Given the description of an element on the screen output the (x, y) to click on. 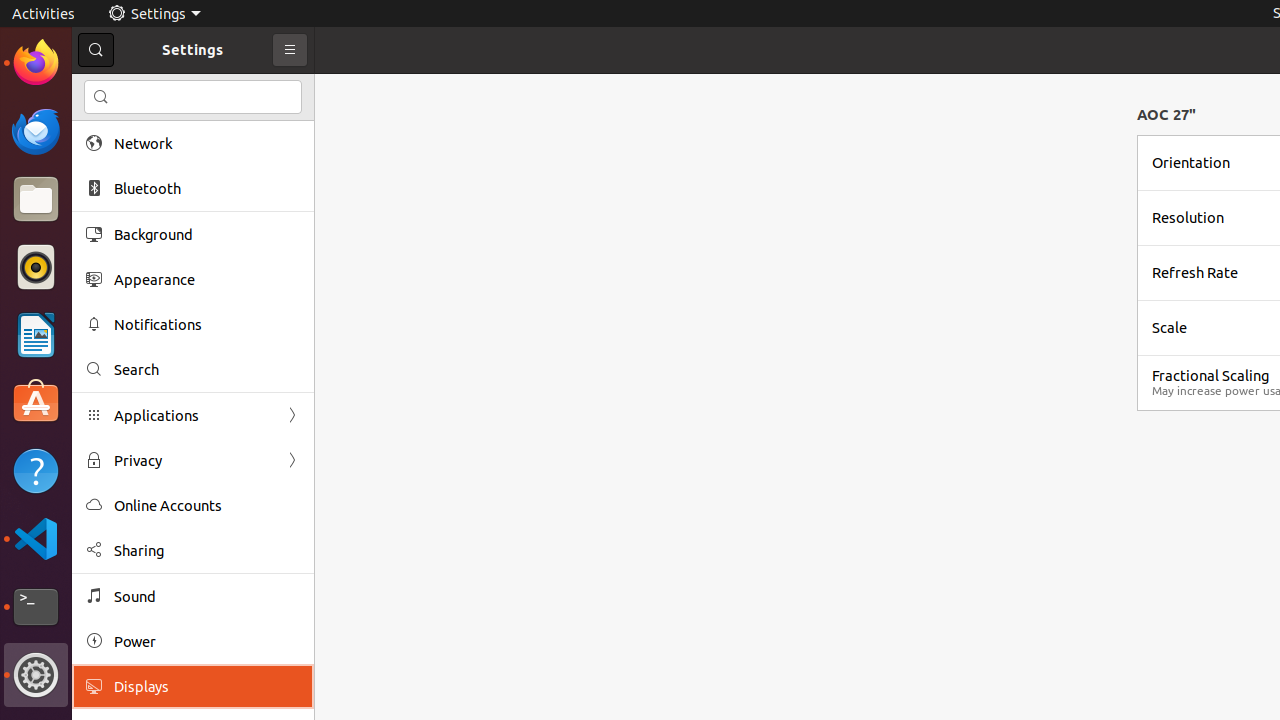
Refresh Rate Element type: label (1195, 272)
